Given the description of an element on the screen output the (x, y) to click on. 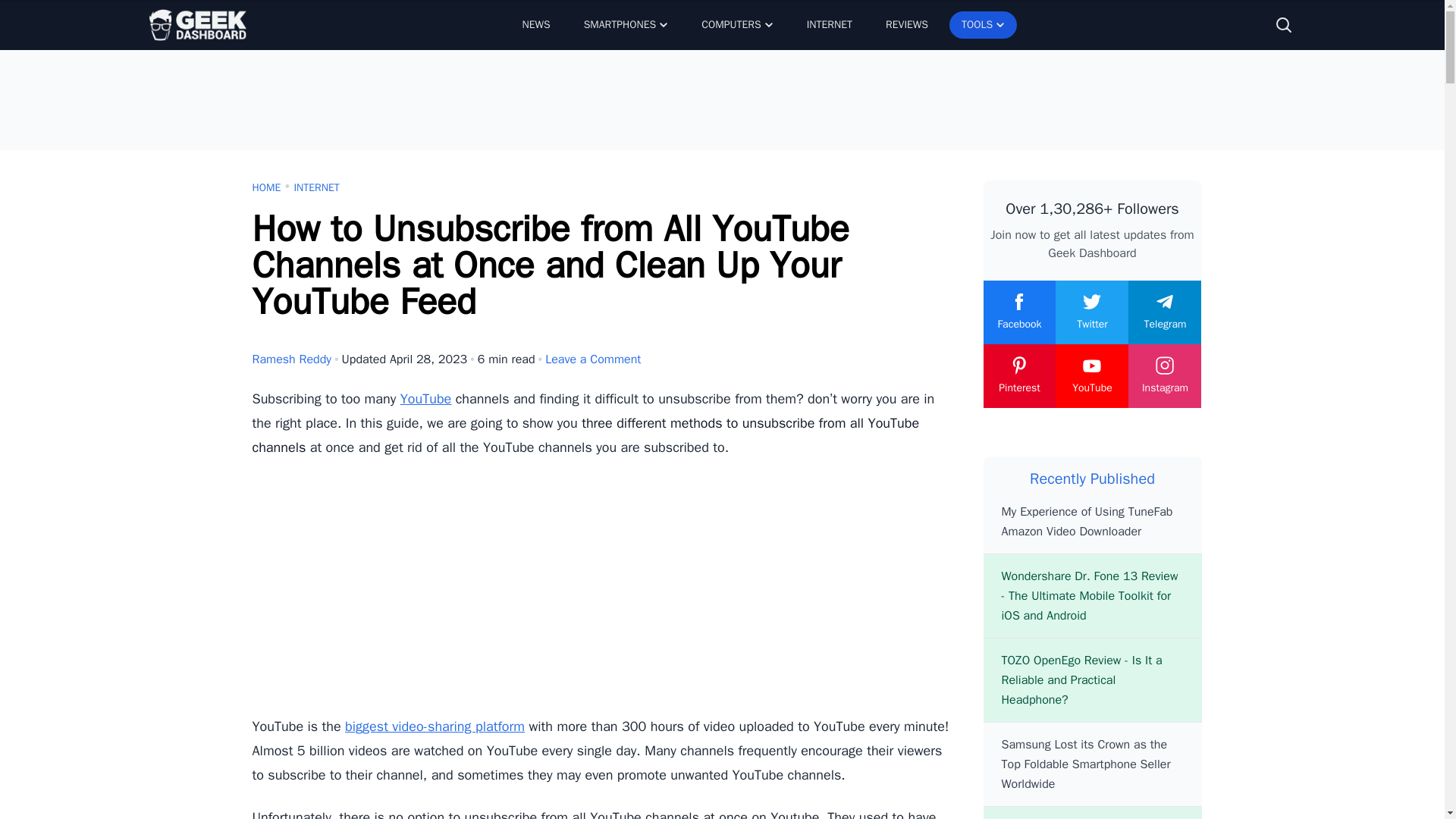
Follow Geek Dashboard on Pinterest (1018, 375)
REVIEWS (906, 24)
TOOLS (982, 24)
Subscribe to Geek Dashboard on YouTube (1091, 375)
Leave a Comment (592, 359)
NEWS (535, 24)
INTERNET (829, 24)
SMARTPHONES (626, 24)
COMPUTERS (736, 24)
biggest video-sharing platform (434, 726)
Follow Geek Dashboard on Instagram (1164, 375)
Like Geek Dashboard Page on Facebook (1018, 311)
Follow Geek Dashbaord on Twitter (1091, 311)
Join Geek Dashboard Telegram Channel (1164, 311)
YouTube (425, 398)
